Given the description of an element on the screen output the (x, y) to click on. 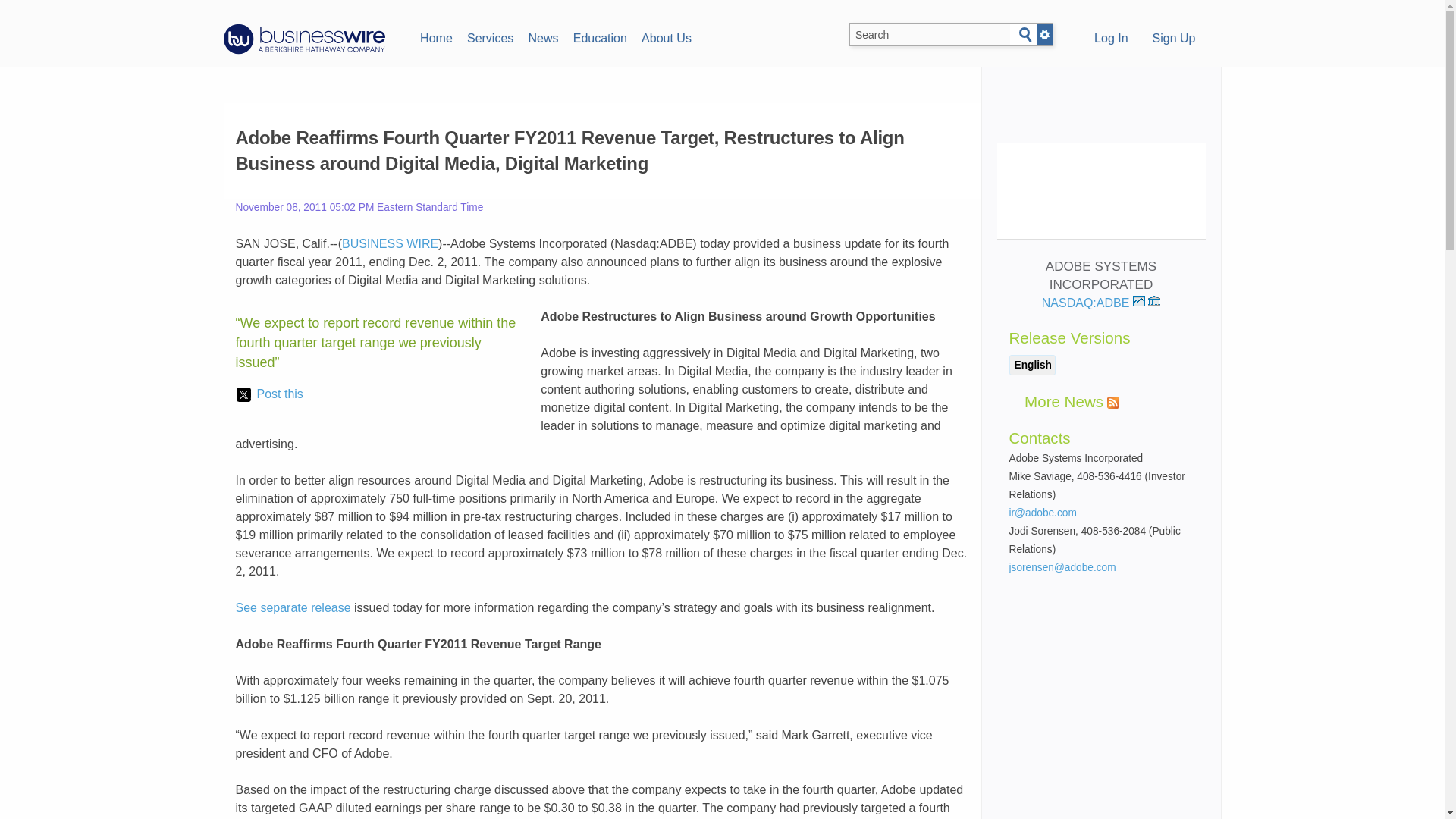
BUSINESS WIRE (390, 243)
View SEC Filings (1154, 300)
Home (436, 36)
About Us (665, 36)
Post this (269, 394)
RSS feed for Adobe Systems Incorporated (1112, 402)
Services (490, 36)
See separate release (292, 607)
NASDAQ:ADBE (1093, 302)
Education (599, 36)
News (543, 36)
Search (1025, 34)
View stock quote and chart (1138, 300)
Search BusinessWire.com (930, 34)
